Given the description of an element on the screen output the (x, y) to click on. 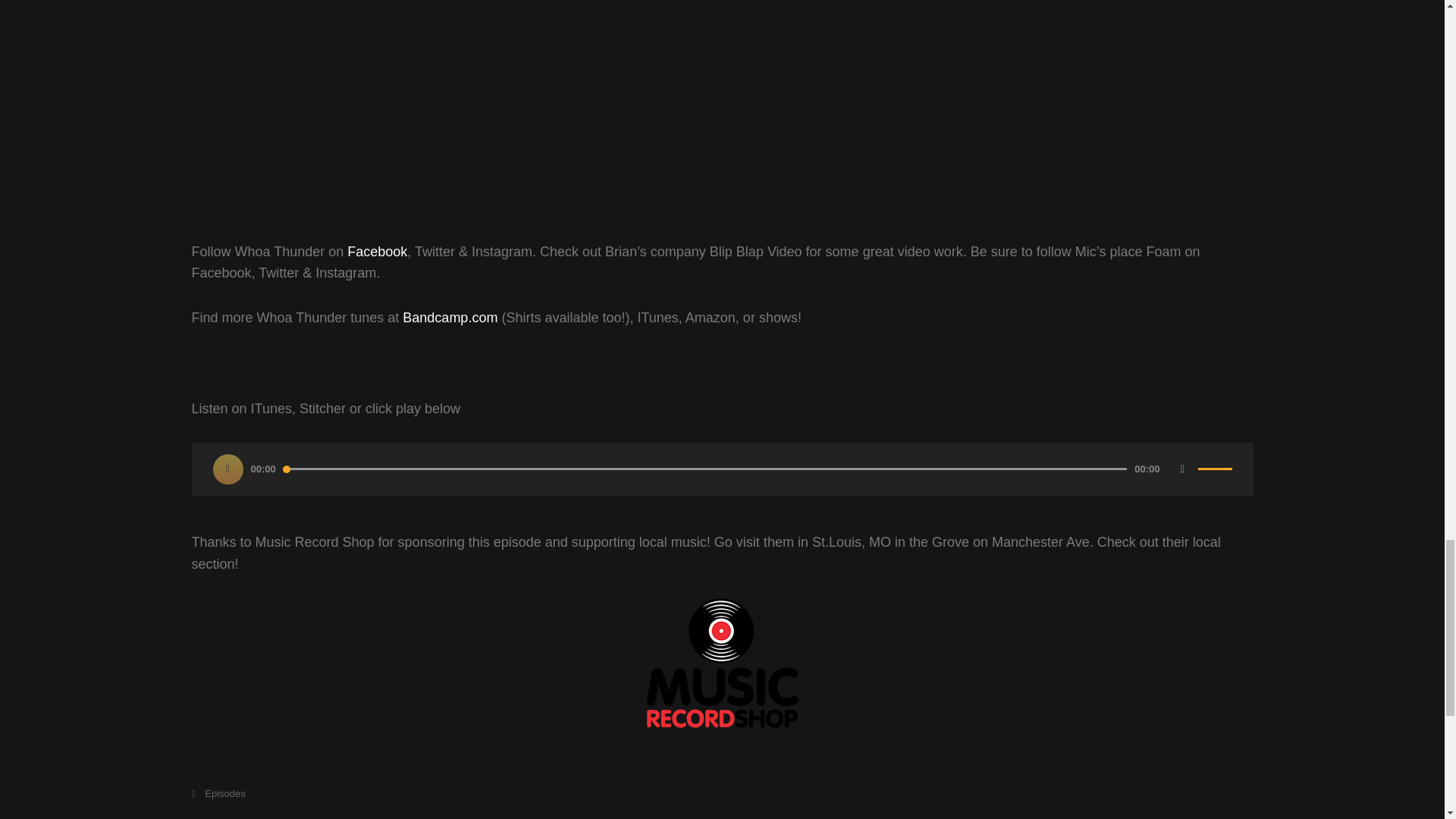
Mute (1182, 469)
Episodes (217, 793)
Play (227, 469)
Bandcamp.com (450, 317)
Facebook (377, 251)
